Given the description of an element on the screen output the (x, y) to click on. 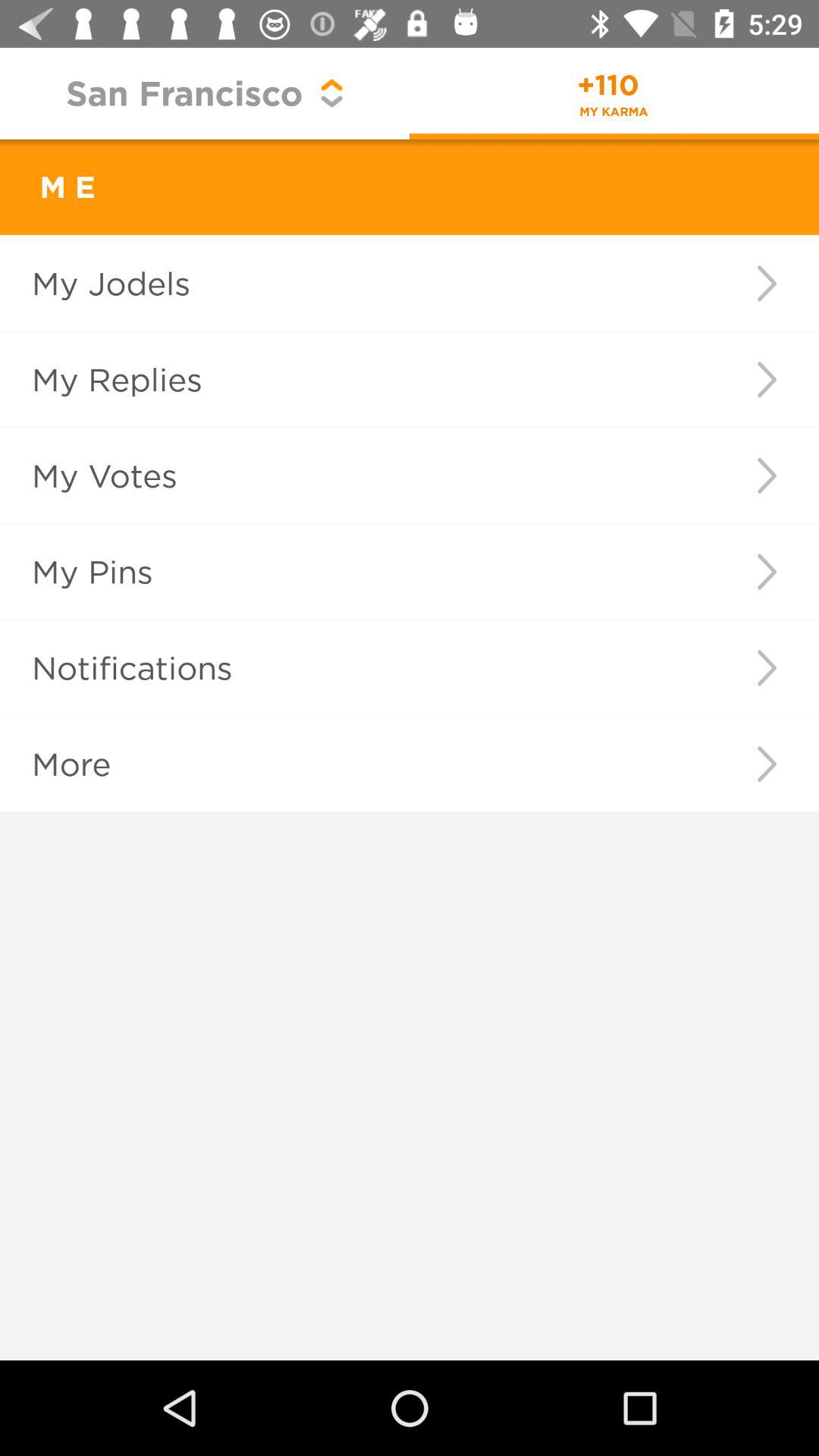
launch icon next to the more (766, 763)
